Given the description of an element on the screen output the (x, y) to click on. 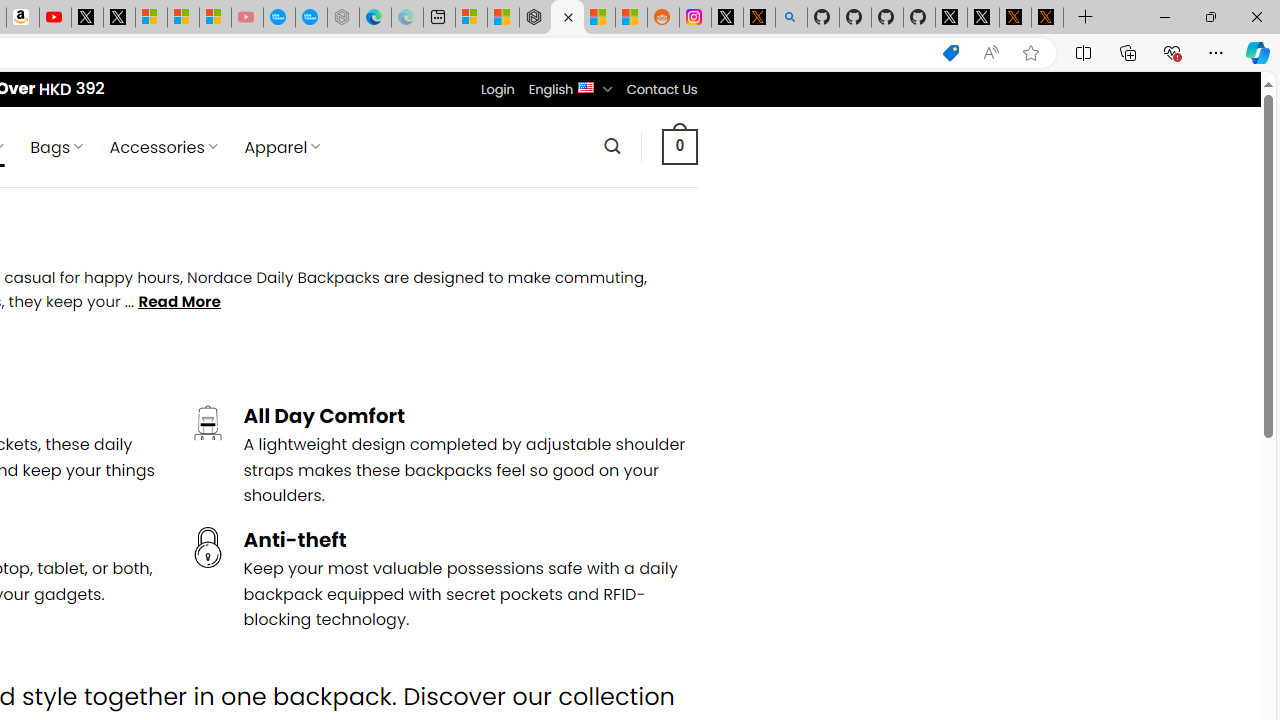
  0   (679, 146)
help.x.com | 524: A timeout occurred (758, 17)
Nordace - Nordace has arrived Hong Kong - Sleeping (343, 17)
Shanghai, China Weather trends | Microsoft Weather (630, 17)
